Given the description of an element on the screen output the (x, y) to click on. 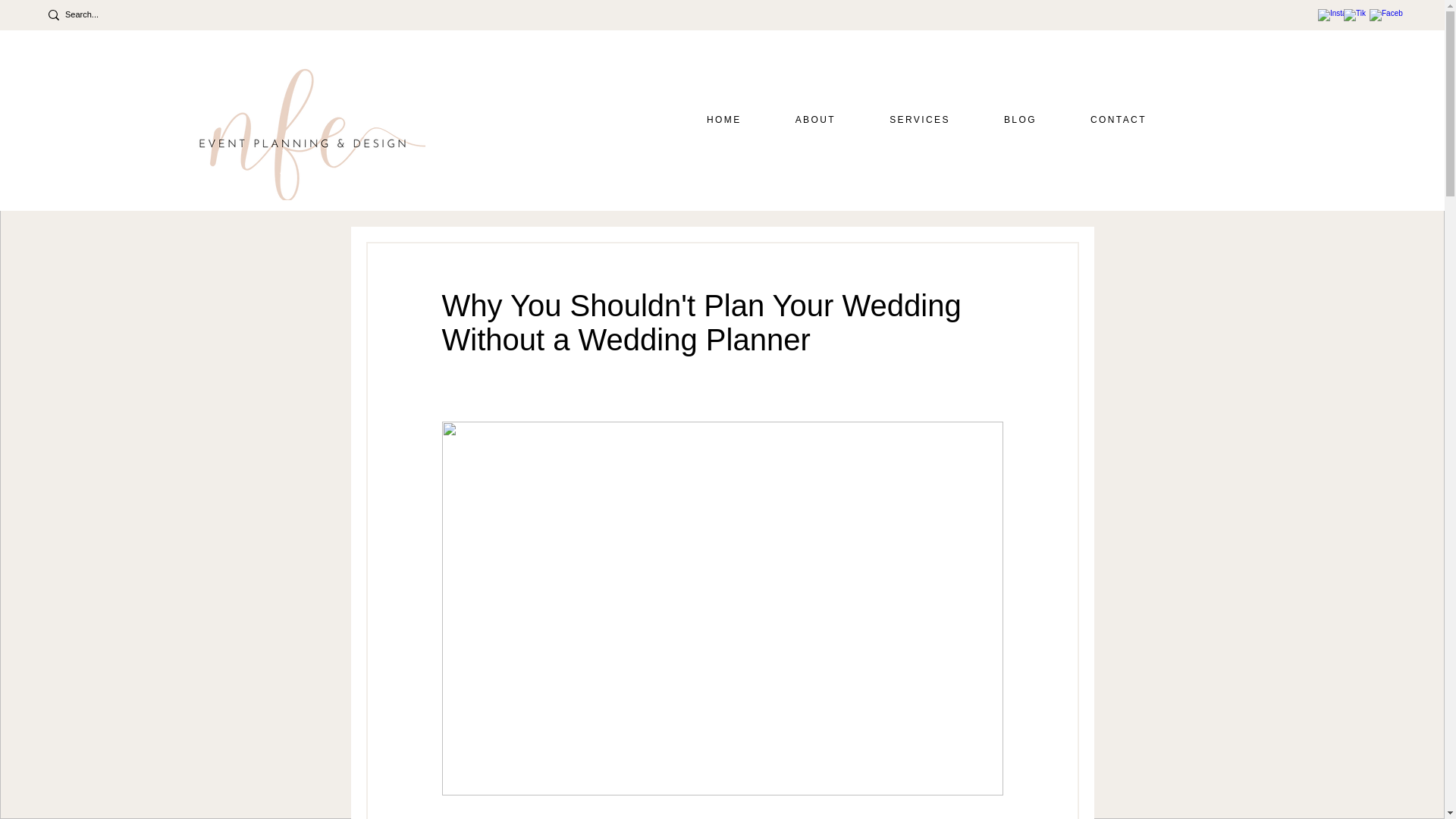
HOME (723, 119)
ABOUT (815, 119)
CONTACT (1117, 119)
SERVICES (920, 119)
BLOG (1019, 119)
